Given the description of an element on the screen output the (x, y) to click on. 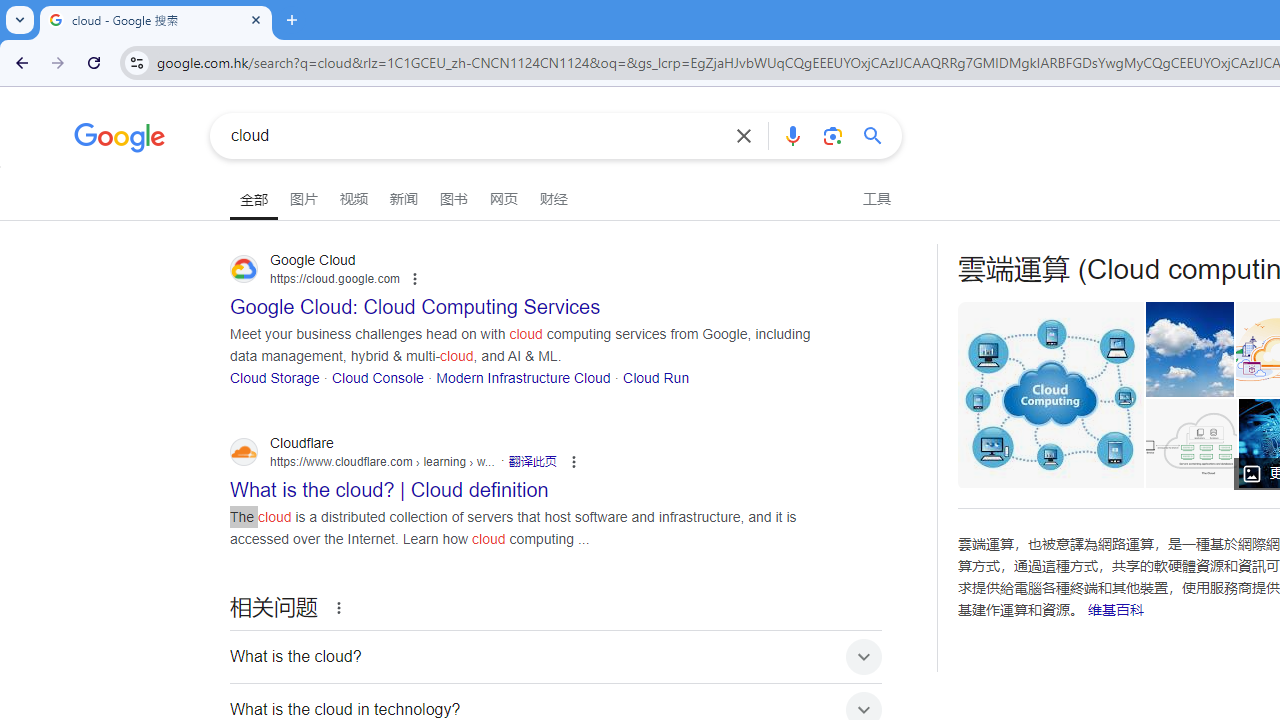
What is the cloud? | Cloud definition | Cloudflare (1190, 443)
Google (120, 139)
Cloud Console (377, 376)
